Given the description of an element on the screen output the (x, y) to click on. 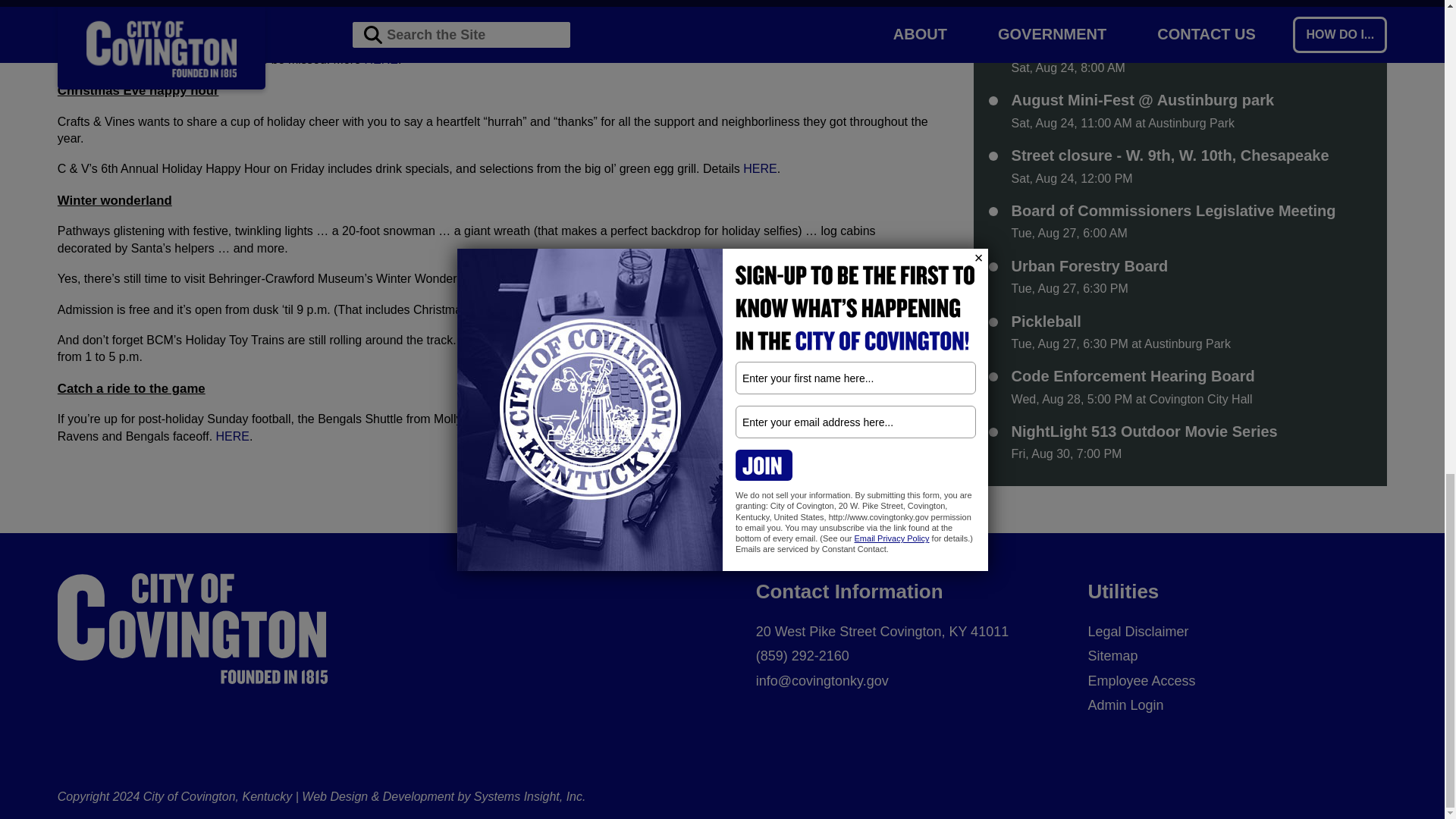
HERE (759, 168)
HERE (507, 339)
HERE (568, 339)
HERE (231, 436)
HERE (380, 59)
